Given the description of an element on the screen output the (x, y) to click on. 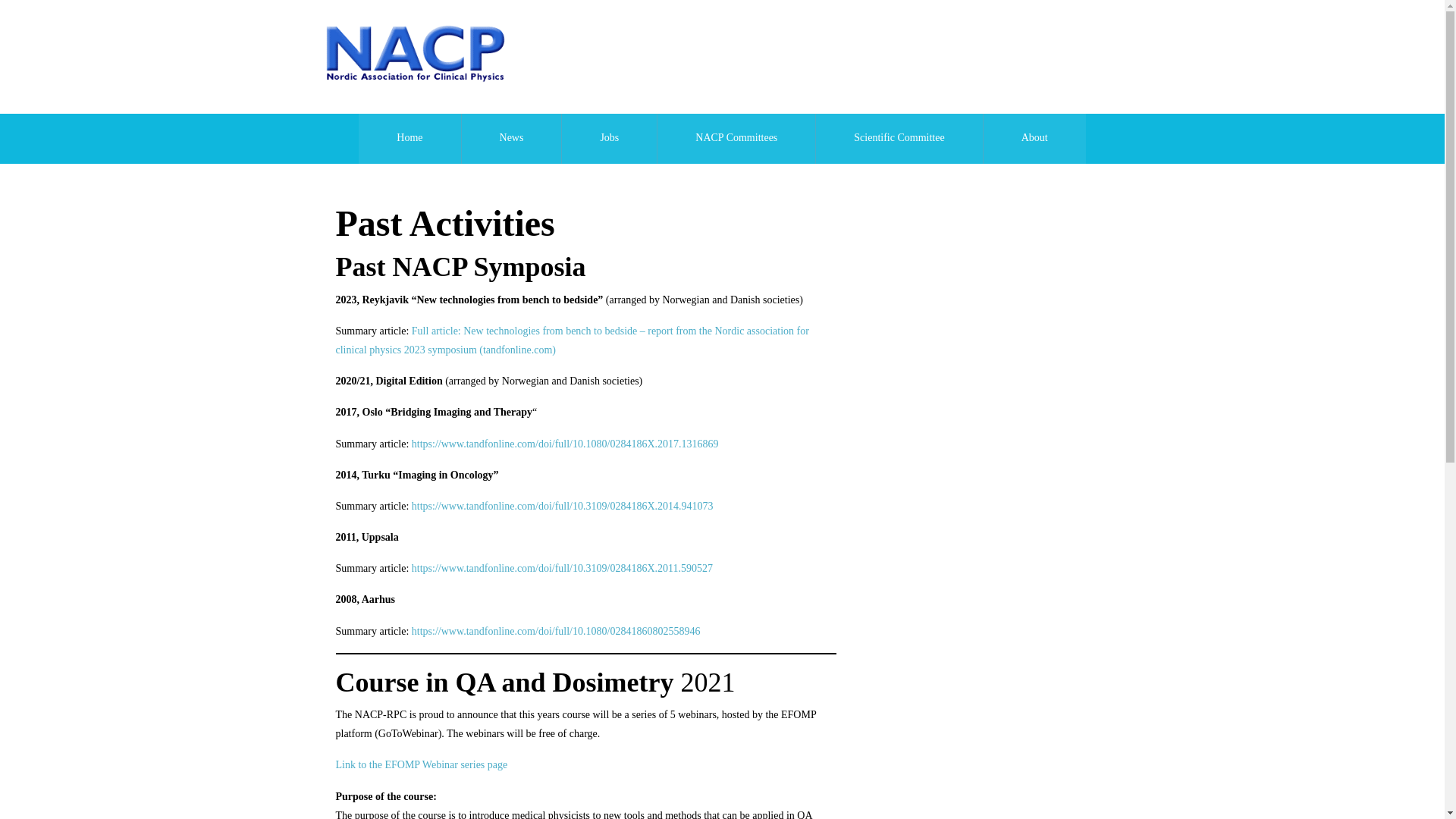
About (1035, 138)
Link to the EFOMP Webinar series page (420, 764)
News (511, 138)
Home (409, 138)
Jobs (609, 138)
Scientific Committee (898, 138)
NACP Committees (736, 138)
